Given the description of an element on the screen output the (x, y) to click on. 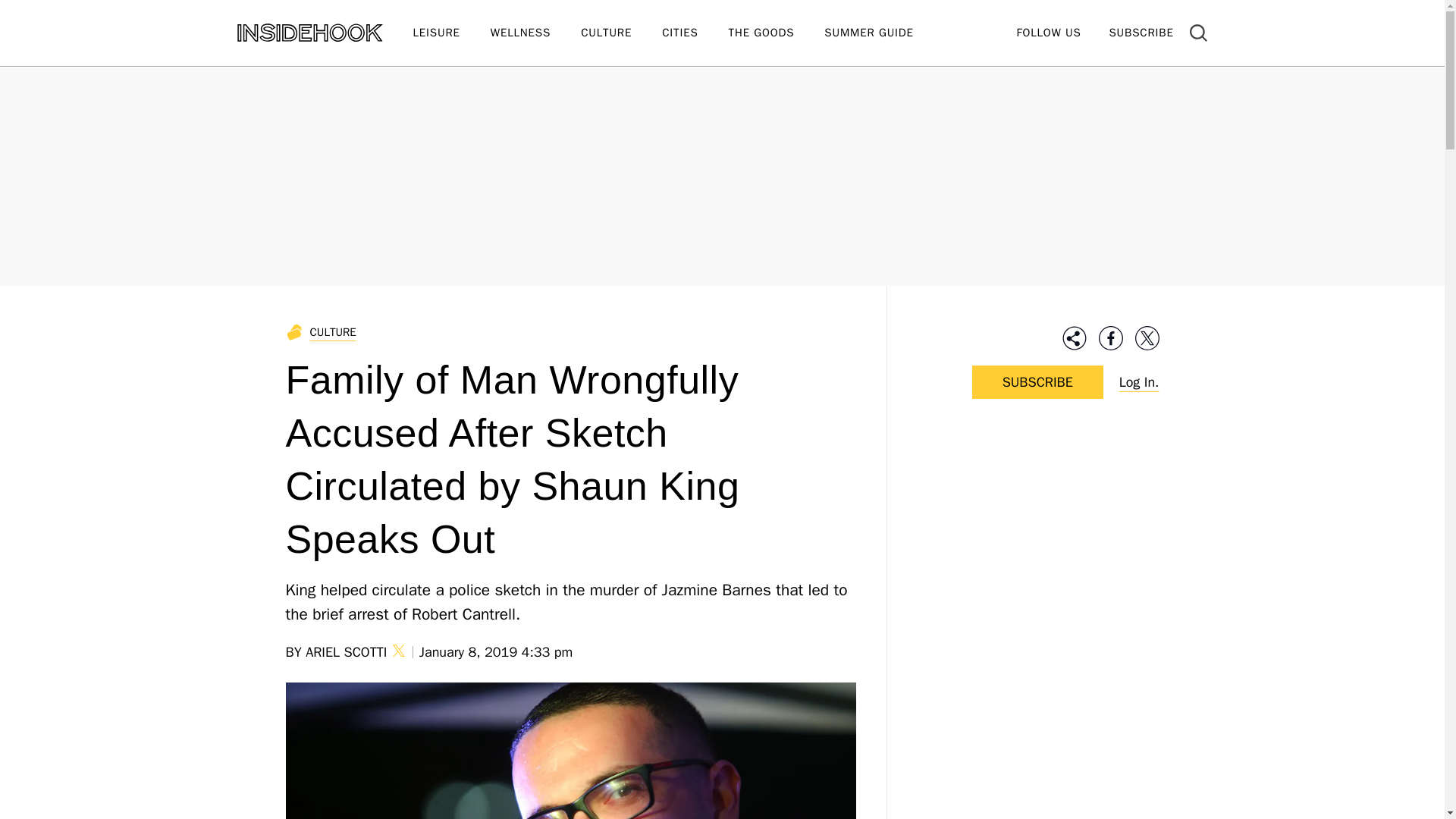
CULTURE (621, 32)
FOLLOW US (1048, 32)
LEISURE (450, 32)
WELLNESS (535, 32)
THE GOODS (777, 32)
CITIES (695, 32)
SUBSCRIBE (1140, 32)
SUMMER GUIDE (883, 32)
